Given the description of an element on the screen output the (x, y) to click on. 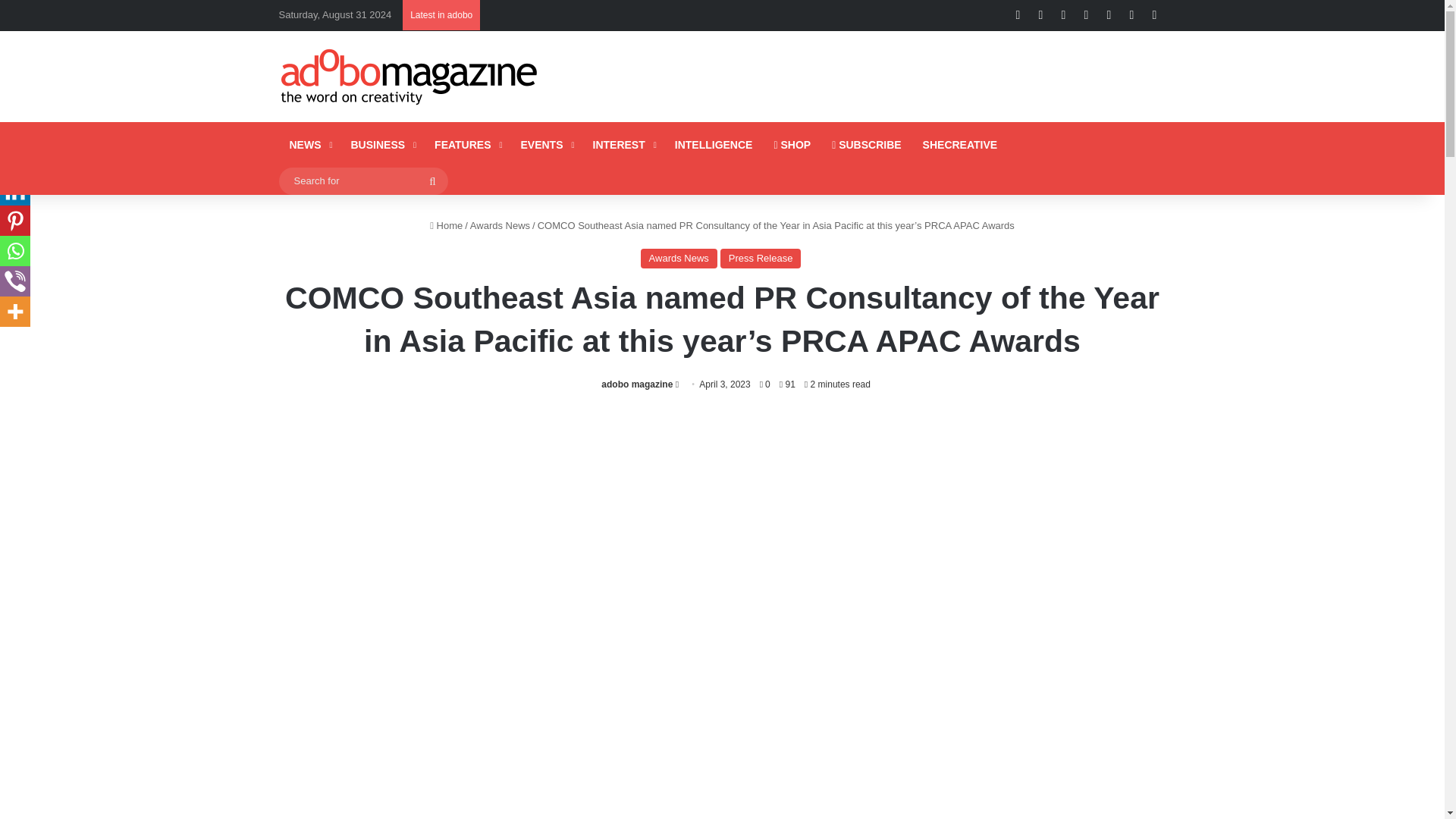
NEWS (309, 144)
Search for (363, 180)
INTEREST (622, 144)
adobo magazine (636, 384)
adobo Magazine Online (409, 76)
FEATURES (466, 144)
EVENTS (544, 144)
BUSINESS (381, 144)
